Given the description of an element on the screen output the (x, y) to click on. 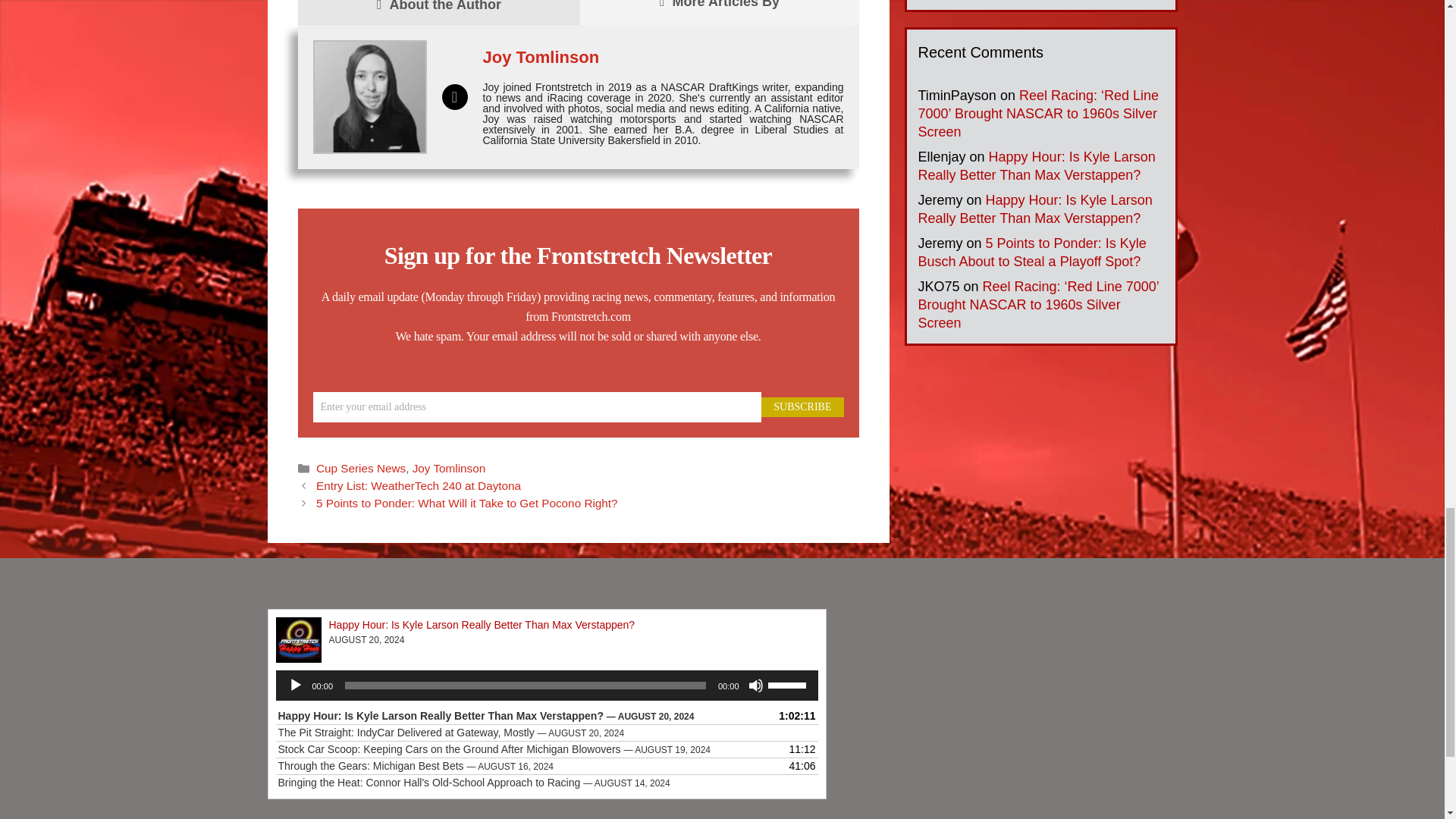
Mute (755, 685)
Joy Tomlinson (449, 468)
Cup Series News (360, 468)
Joy Tomlinson (539, 56)
Play (295, 685)
SUBSCRIBE (802, 406)
